Given the description of an element on the screen output the (x, y) to click on. 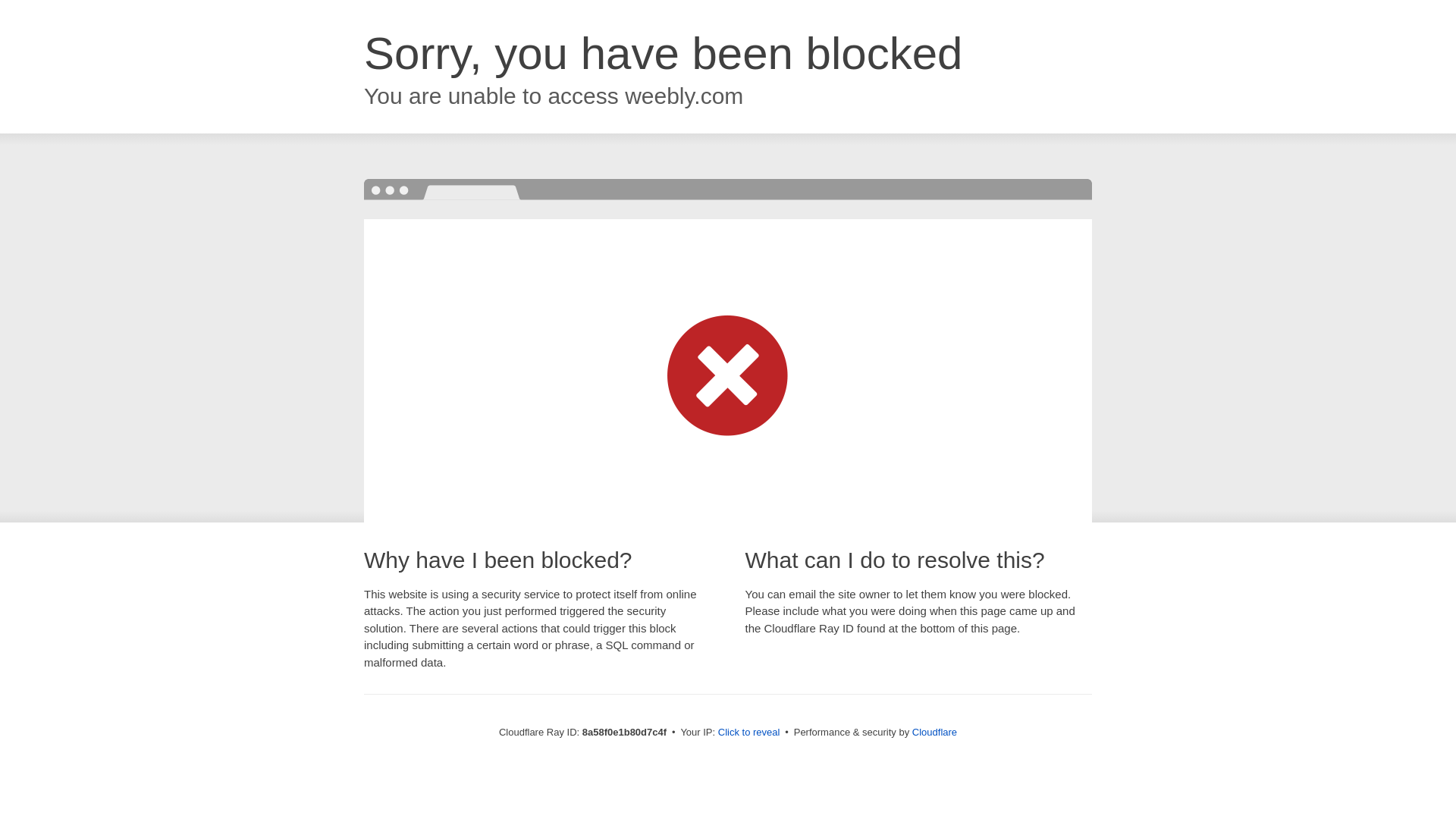
Click to reveal (748, 732)
Cloudflare (934, 731)
